Given the description of an element on the screen output the (x, y) to click on. 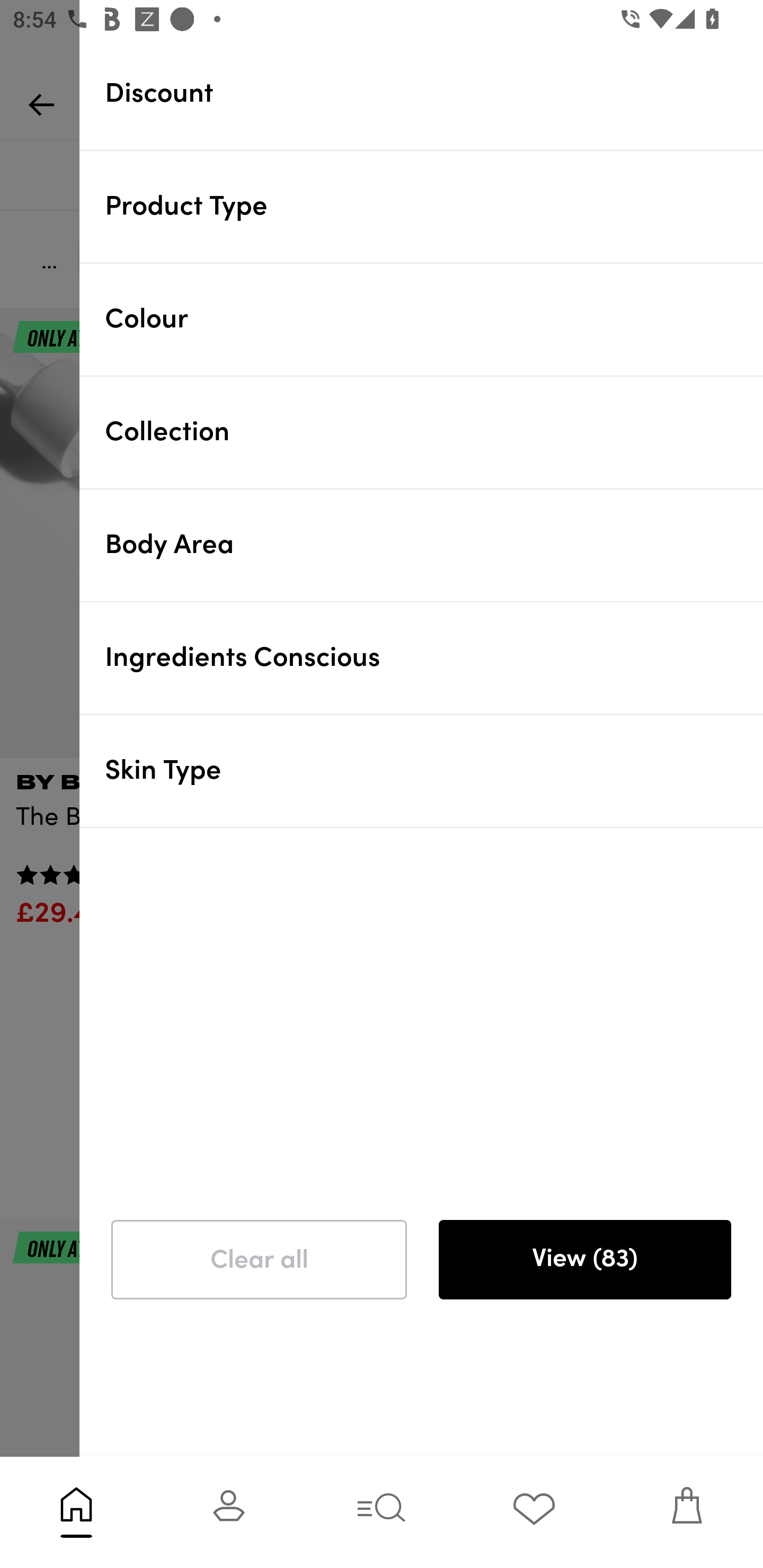
Discount (434, 92)
Product Type (434, 205)
Colour (434, 318)
Collection (434, 431)
Body Area (434, 544)
Ingredients Conscious (434, 657)
Skin Type (434, 770)
Clear all (258, 1259)
View (83) (584, 1259)
